Given the description of an element on the screen output the (x, y) to click on. 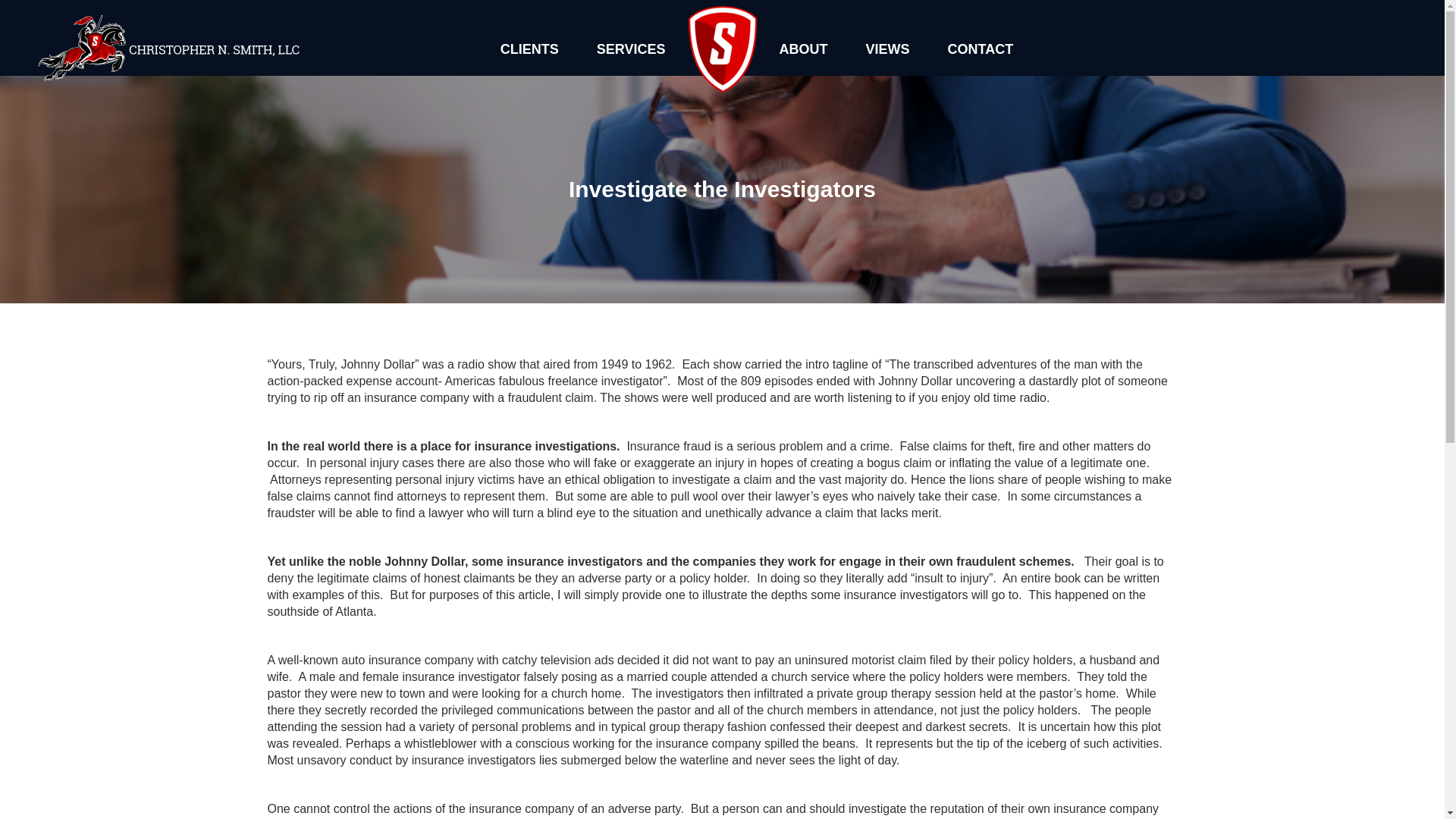
ABOUT (802, 48)
CLIENTS (529, 48)
SERVICES (631, 48)
CONTACT (980, 48)
VIEWS (886, 48)
